Given the description of an element on the screen output the (x, y) to click on. 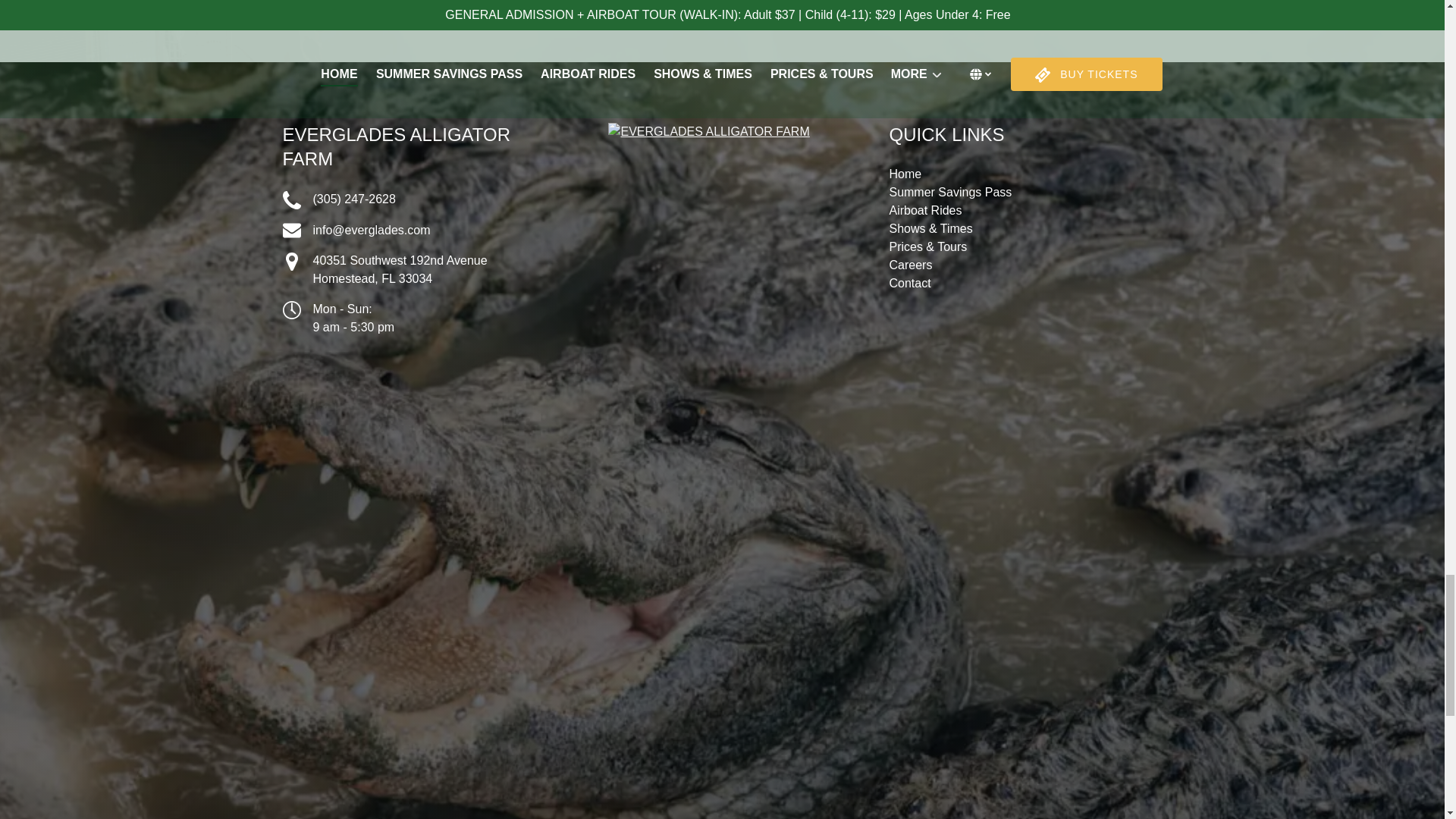
Map Marker (290, 261)
Envelope (290, 230)
Phone (290, 199)
Clock (290, 310)
